Given the description of an element on the screen output the (x, y) to click on. 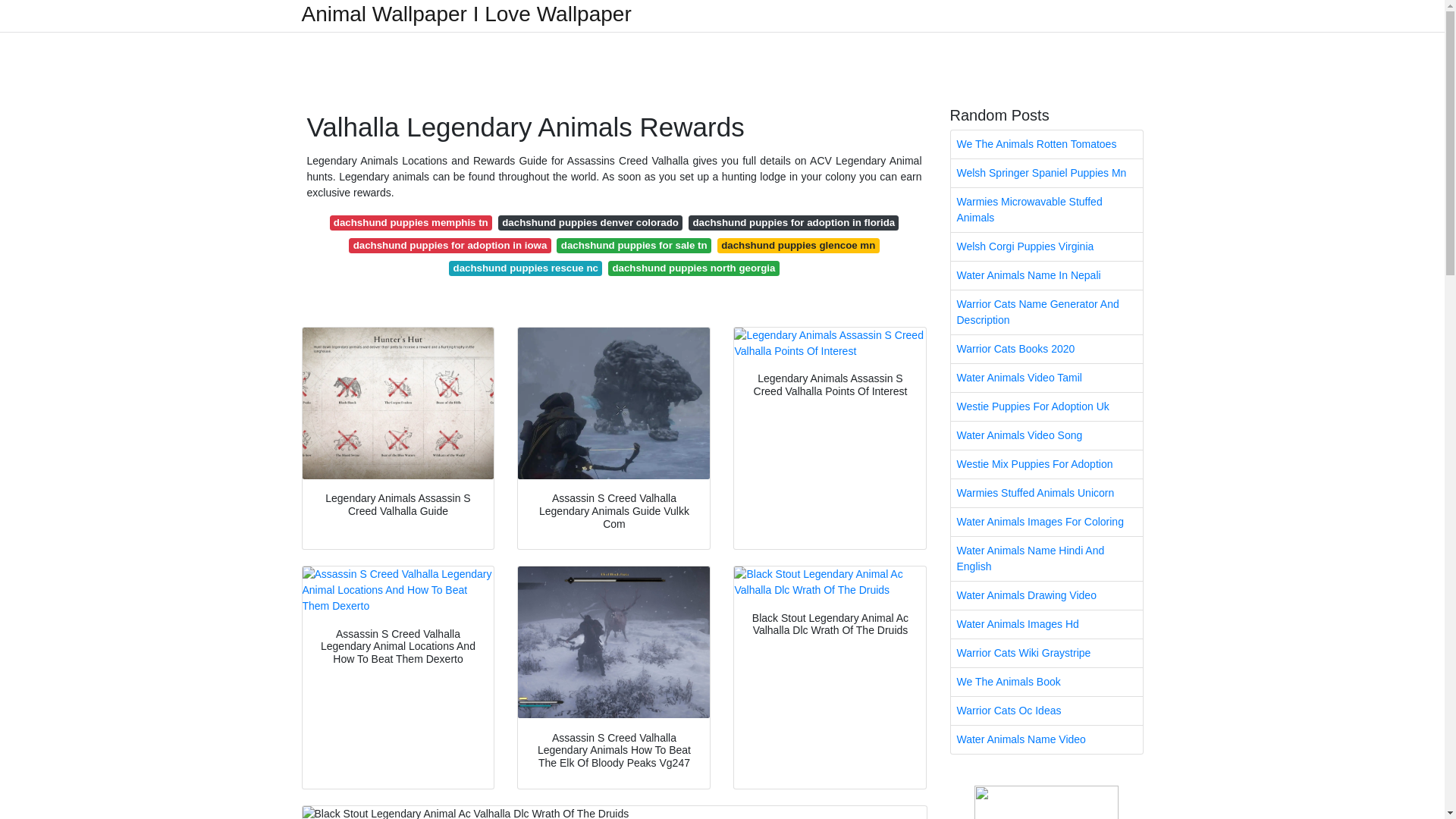
Welsh Corgi Puppies Virginia (1046, 246)
Animal Wallpaper I Love Wallpaper (466, 13)
Warmies Microwavable Stuffed Animals (1046, 209)
dachshund puppies for adoption in florida (793, 222)
Warrior Cats Books 2020 (1046, 348)
Water Animals Video Song (1046, 435)
dachshund puppies memphis tn (411, 222)
Animal Wallpaper I Love Wallpaper (466, 13)
Water Animals Name In Nepali (1046, 275)
dachshund puppies denver colorado (589, 222)
